Given the description of an element on the screen output the (x, y) to click on. 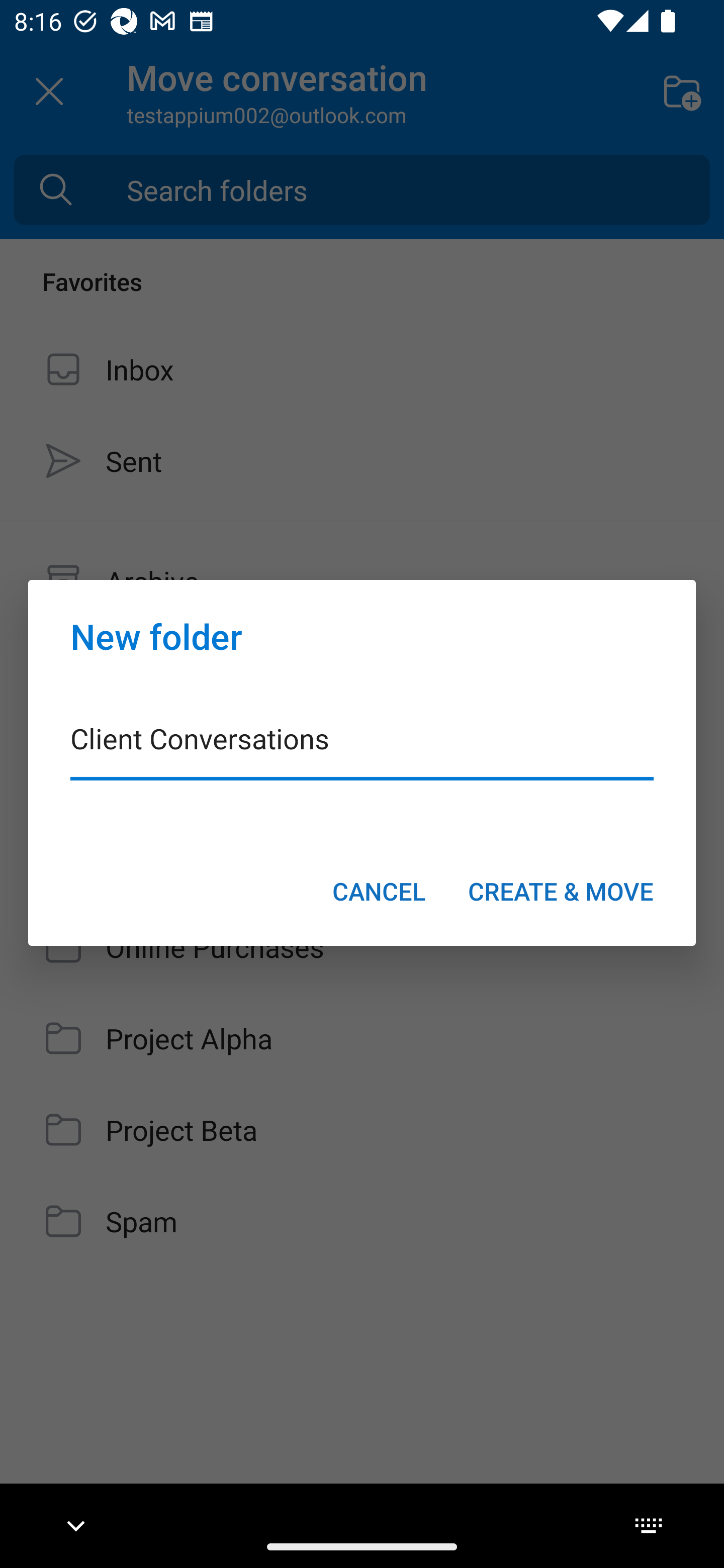
Client Conversations (361, 750)
CANCEL (378, 891)
CREATE & MOVE (560, 891)
